Given the description of an element on the screen output the (x, y) to click on. 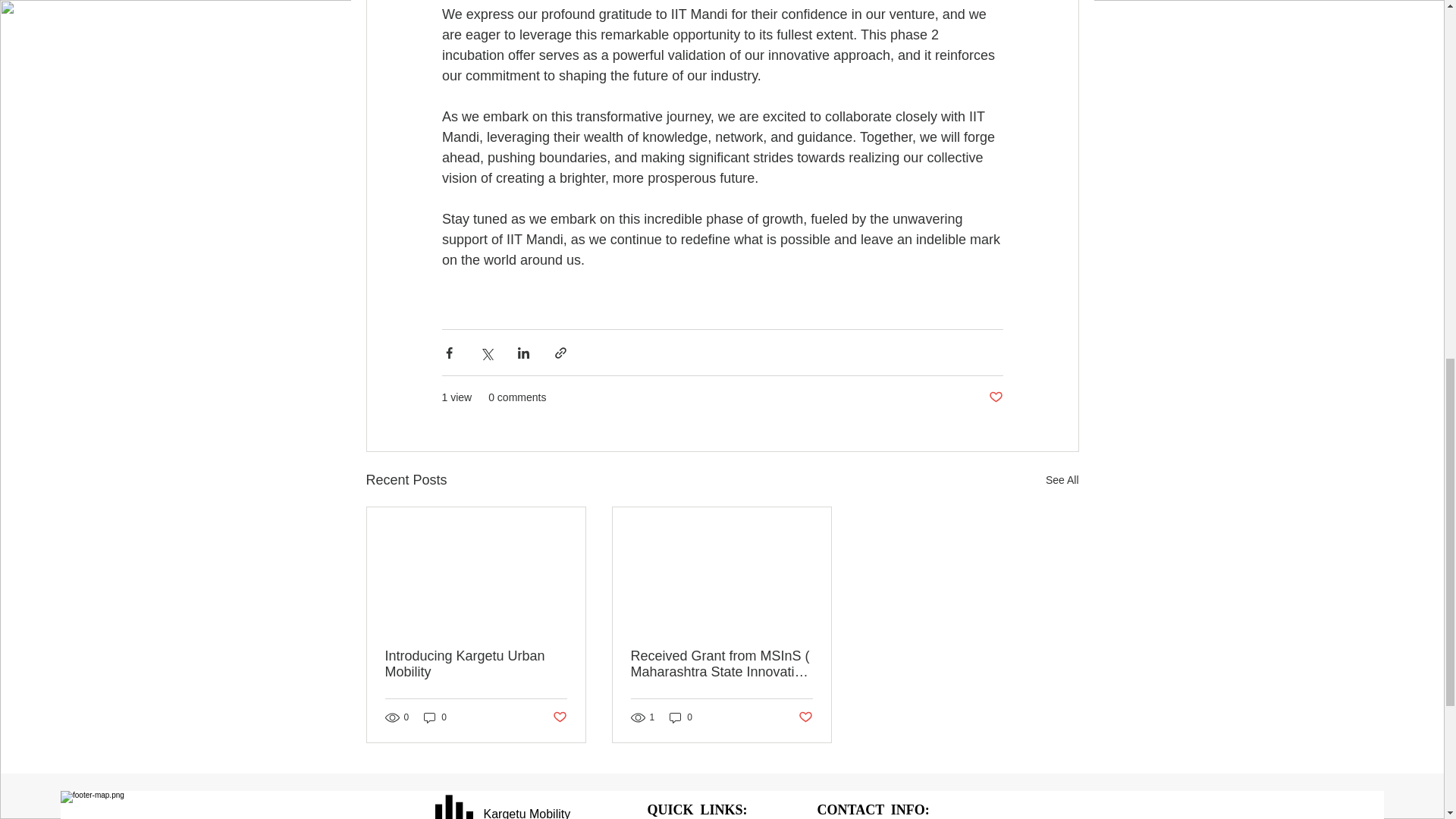
Post not marked as liked (804, 717)
0 (435, 717)
0 (681, 717)
Introducing Kargetu Urban Mobility (476, 664)
Post not marked as liked (995, 397)
See All (1061, 480)
Post not marked as liked (558, 717)
Kargetu Mobility (526, 813)
